Given the description of an element on the screen output the (x, y) to click on. 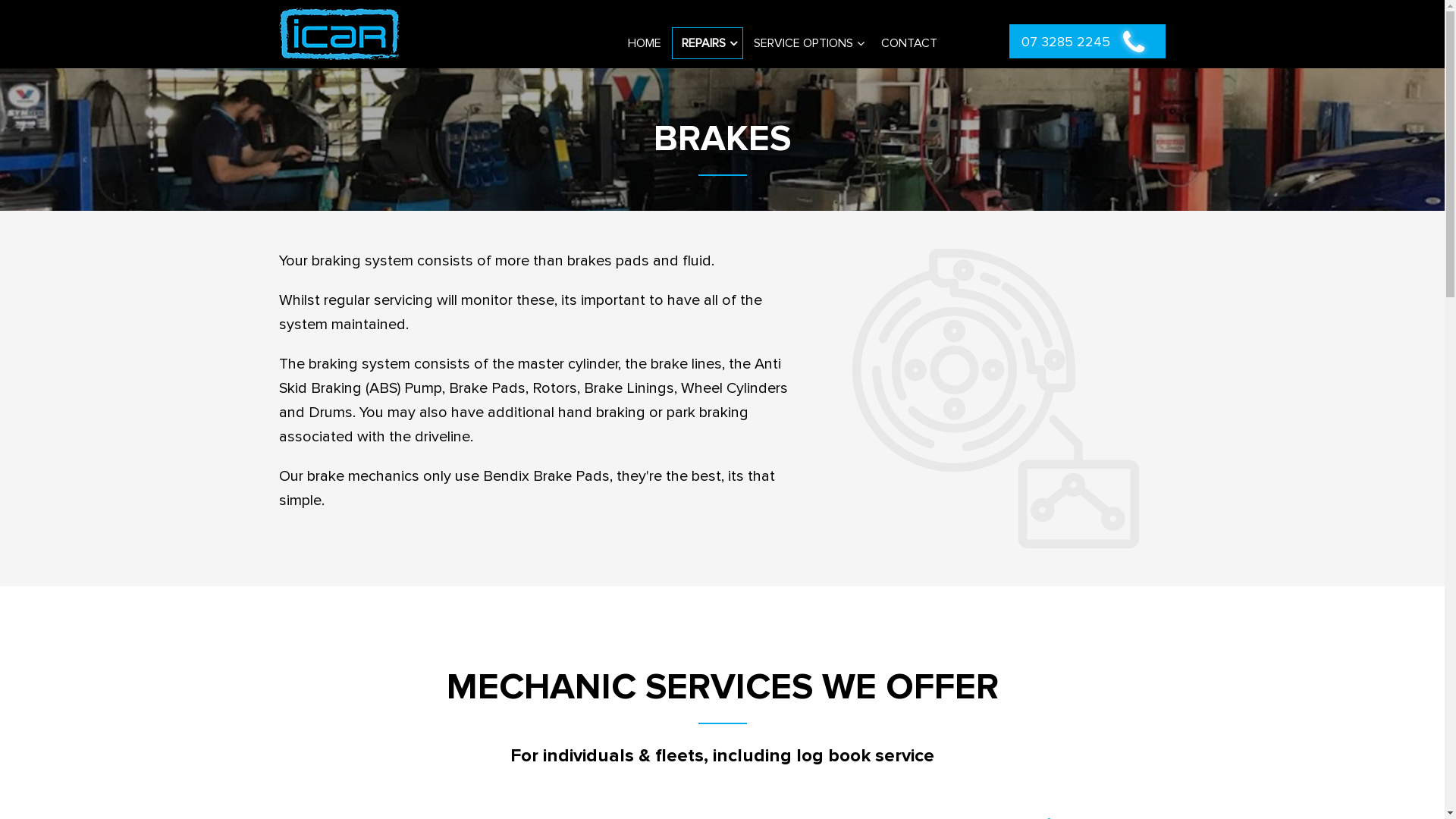
REPAIRS Element type: text (707, 43)
CONTACT Element type: text (909, 43)
07 3285 2245 Element type: text (1087, 41)
SERVICE OPTIONS Element type: text (806, 43)
icon 2 Element type: hover (995, 398)
HOME Element type: text (644, 43)
